Given the description of an element on the screen output the (x, y) to click on. 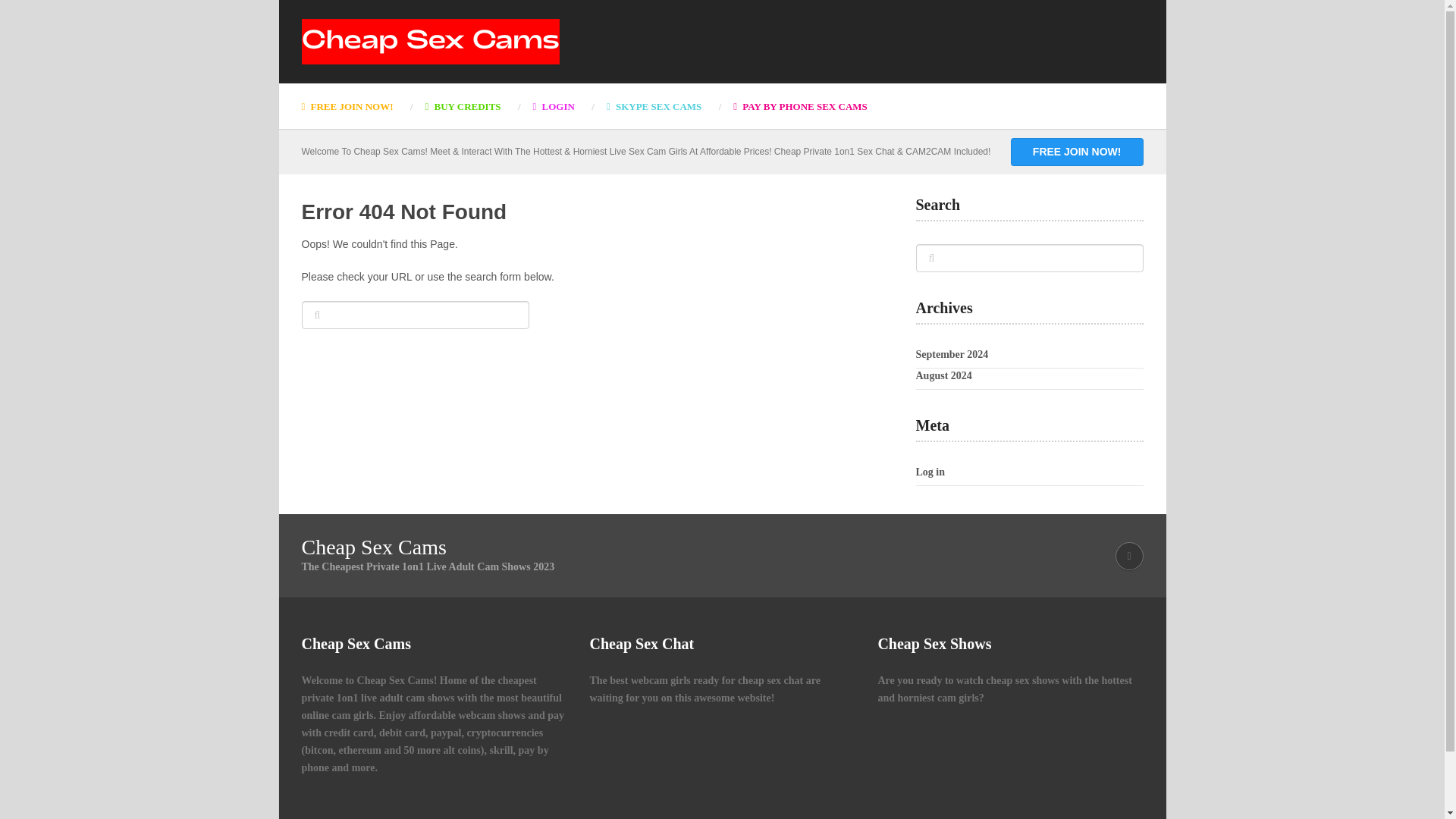
LOGIN (553, 105)
BUY CREDITS (462, 105)
Pay by Phone Sex Cams (799, 105)
SkyPrivate (654, 105)
FREE JOIN NOW! (355, 105)
SKYPE SEX CAMS (654, 105)
PAY BY PHONE SEX CAMS (799, 105)
FREE JOIN NOW! (1076, 152)
FREE JOIN NOW! (355, 105)
Log in (929, 471)
